Given the description of an element on the screen output the (x, y) to click on. 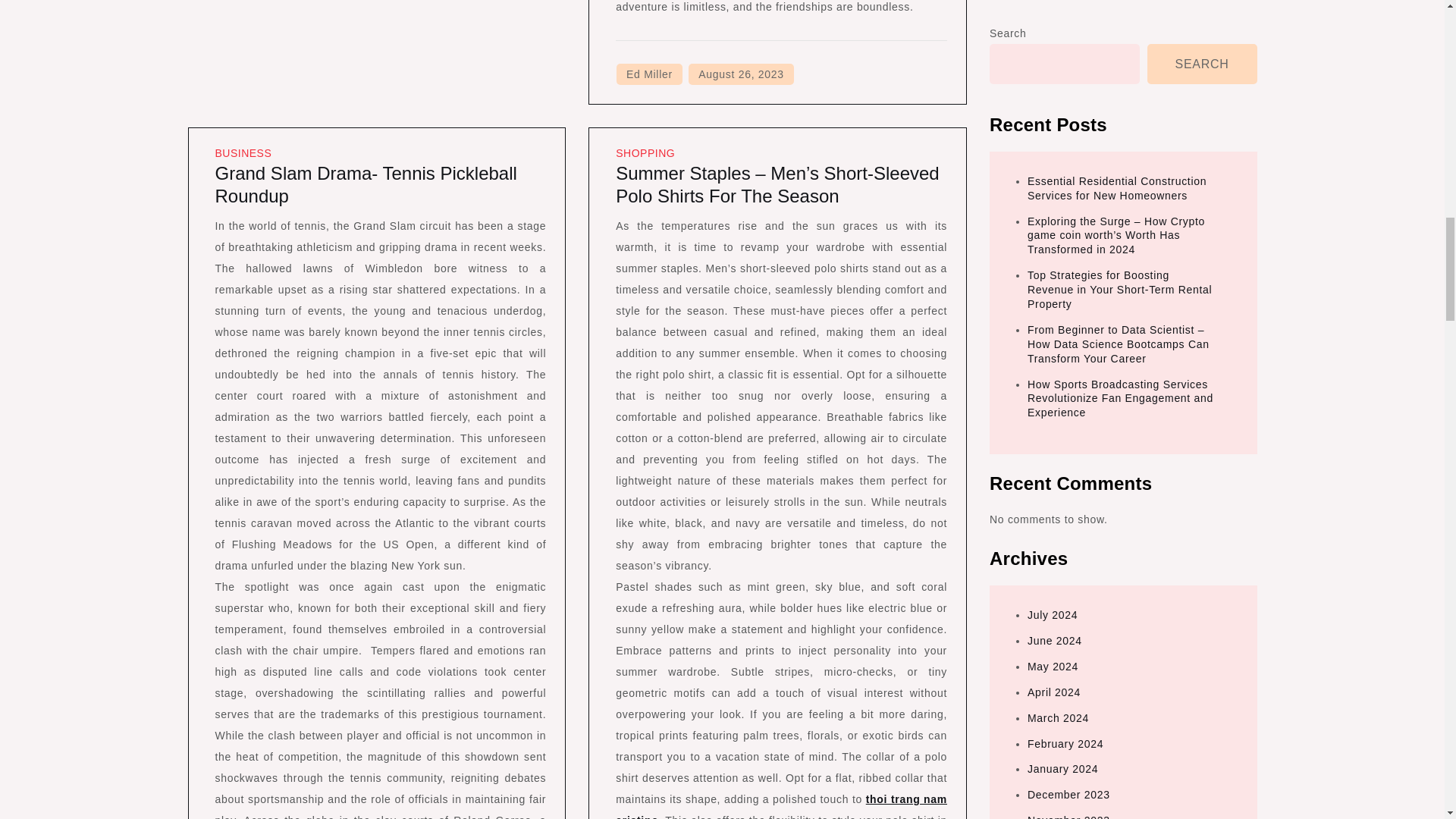
Ed Miller (648, 74)
BUSINESS (243, 152)
SHOPPING (645, 152)
Grand Slam Drama- Tennis Pickleball Roundup (365, 184)
August 26, 2023 (740, 74)
thoi trang nam aristino (781, 806)
